Given the description of an element on the screen output the (x, y) to click on. 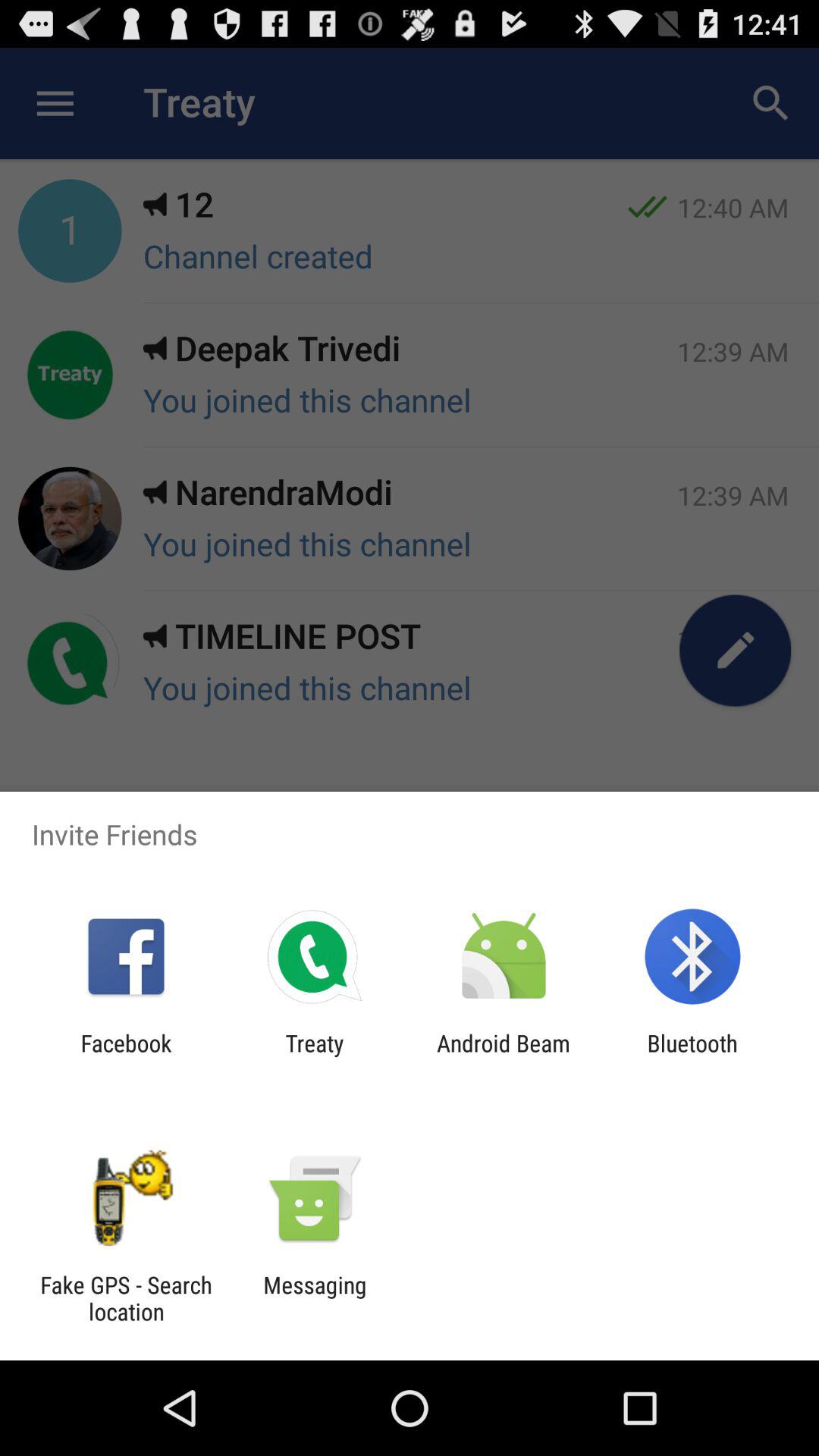
click the messaging (314, 1298)
